Given the description of an element on the screen output the (x, y) to click on. 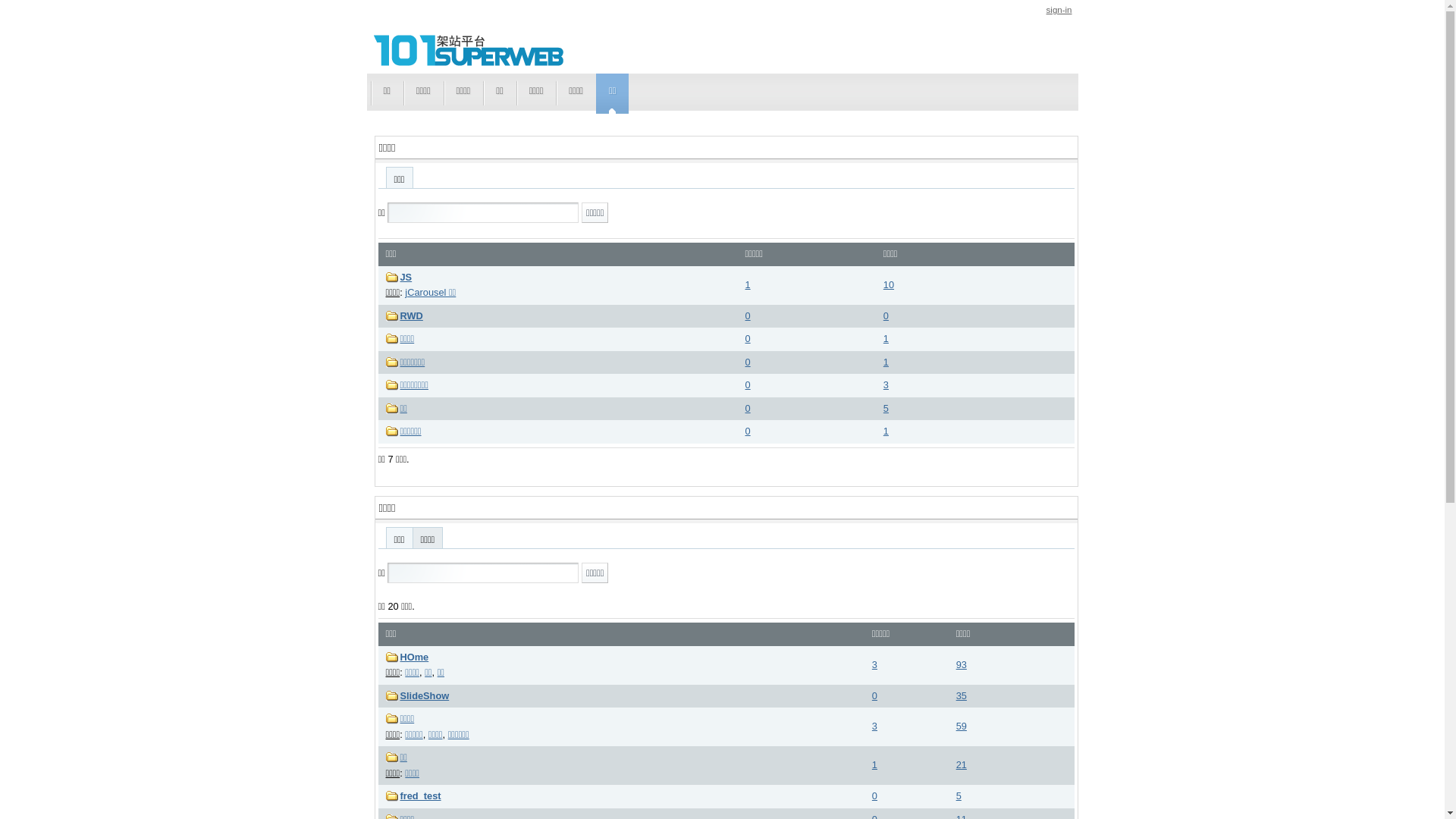
RWD Element type: text (411, 315)
0 Element type: text (747, 430)
fred_test Element type: text (420, 795)
1 Element type: text (874, 764)
10 Element type: text (888, 284)
3 Element type: text (885, 384)
0 Element type: text (874, 795)
3 Element type: text (874, 664)
SlideShow Element type: text (424, 695)
21 Element type: text (961, 764)
0 Element type: text (885, 315)
0 Element type: text (747, 384)
0 Element type: text (747, 408)
0 Element type: text (747, 338)
0 Element type: text (874, 695)
HOme Element type: text (414, 656)
1 Element type: text (885, 430)
5 Element type: text (958, 795)
JS Element type: text (406, 276)
1 Element type: text (885, 338)
1 Element type: text (885, 361)
0 Element type: text (747, 315)
0 Element type: text (747, 361)
5 Element type: text (885, 408)
1 Element type: text (747, 284)
93 Element type: text (961, 664)
3 Element type: text (874, 725)
35 Element type: text (961, 695)
59 Element type: text (961, 725)
